Given the description of an element on the screen output the (x, y) to click on. 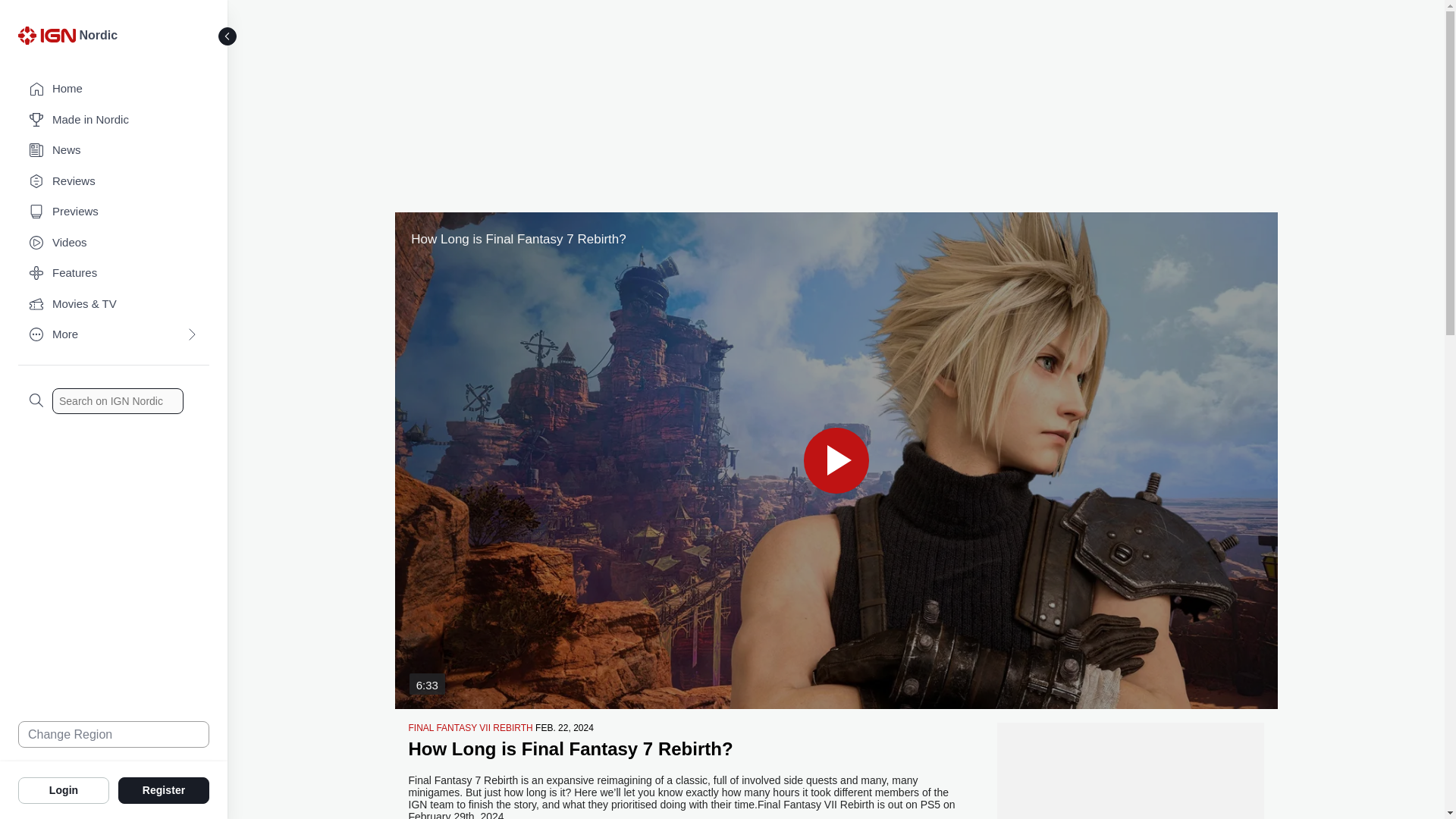
News (113, 150)
Register (163, 789)
3rd party ad content (835, 103)
Made in Nordic (113, 119)
Home (113, 89)
IGN Logo (48, 39)
IGN Logo (46, 34)
More (113, 334)
Login (63, 789)
FINAL FANTASY VII REBIRTH (469, 727)
Reviews (113, 181)
Features (113, 273)
Videos (113, 242)
Toggle Sidebar (226, 36)
